Given the description of an element on the screen output the (x, y) to click on. 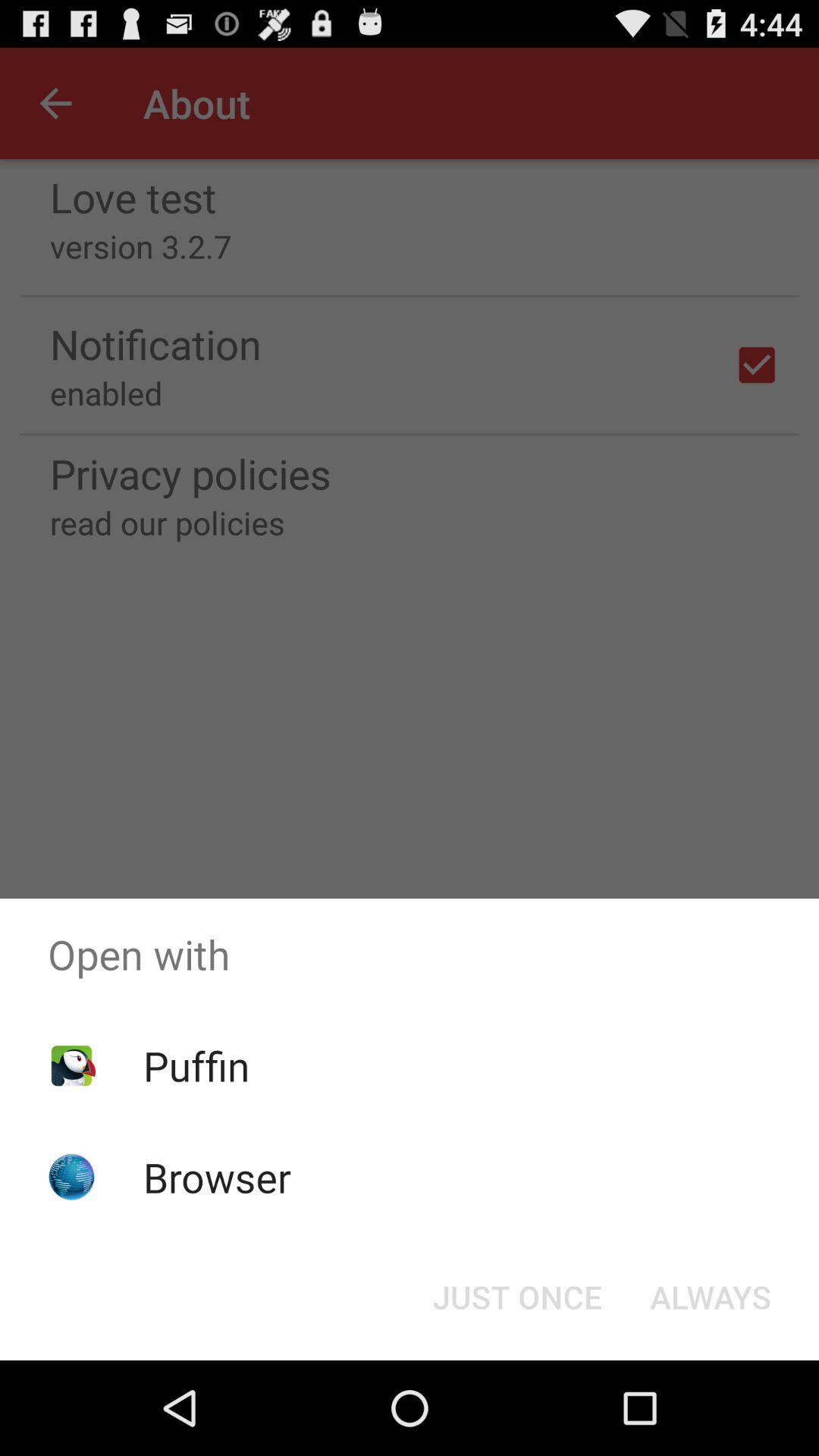
tap icon to the right of the just once icon (710, 1296)
